Given the description of an element on the screen output the (x, y) to click on. 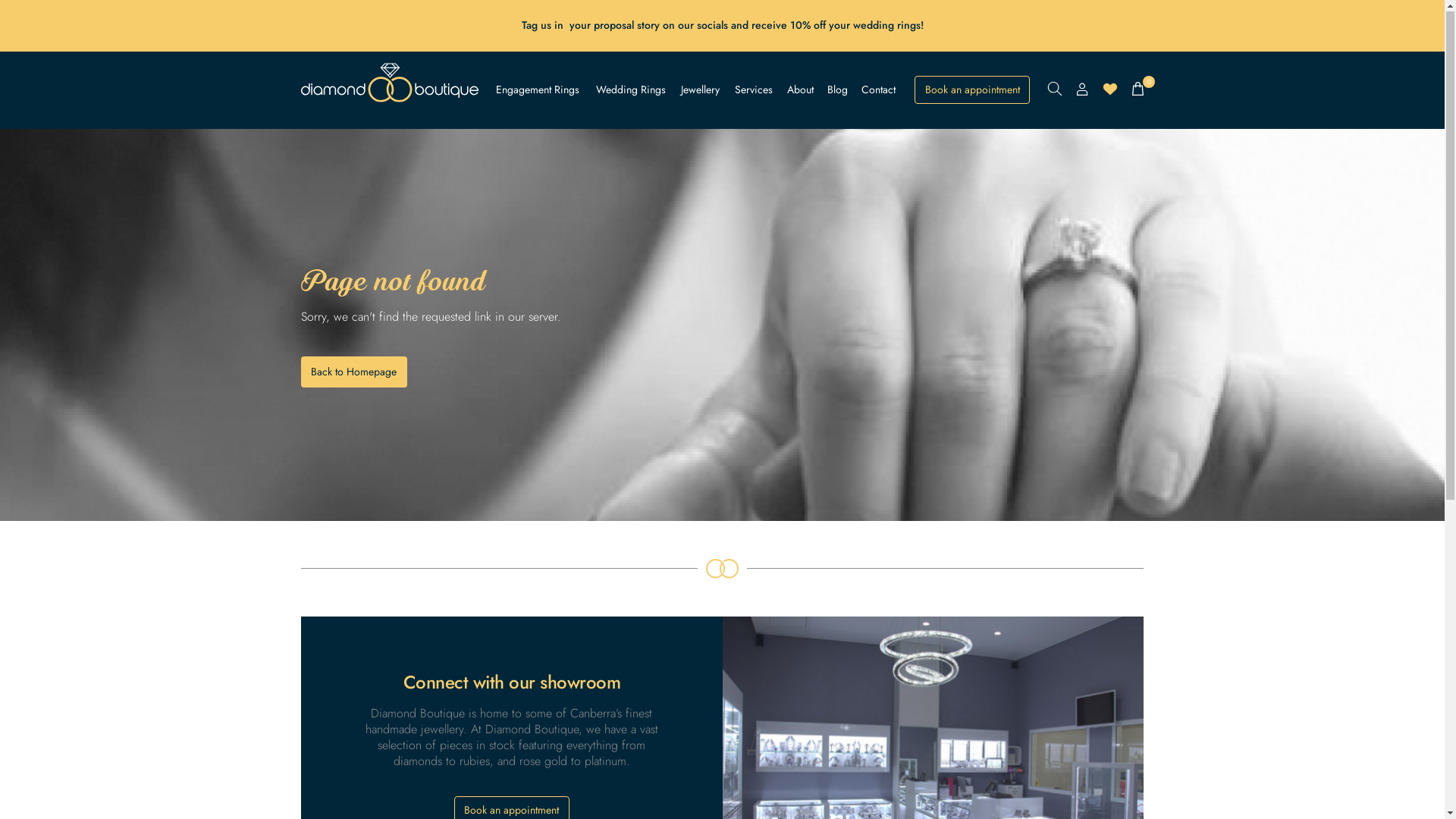
Services Element type: text (753, 89)
Book an appointment Element type: text (971, 90)
0 Element type: text (1137, 89)
Contact Element type: text (878, 89)
Blog Element type: text (837, 89)
Engagement Rings Element type: text (537, 89)
Jewellery Element type: text (699, 89)
Back to Homepage Element type: text (354, 372)
Wedding Rings Element type: text (630, 89)
About Element type: text (800, 89)
